Given the description of an element on the screen output the (x, y) to click on. 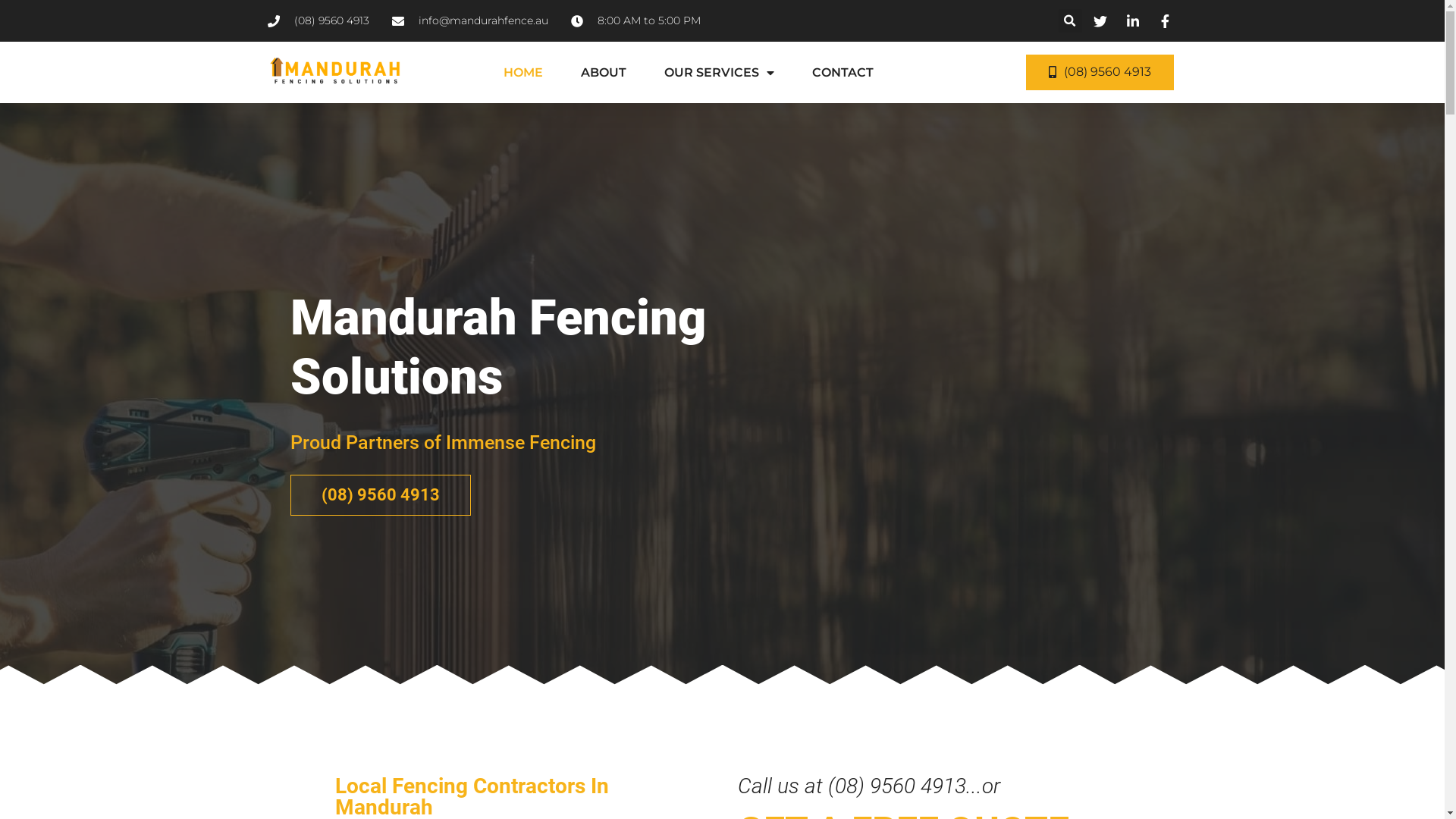
OUR SERVICES Element type: text (719, 72)
(08) 9560 4913 Element type: text (379, 494)
CONTACT Element type: text (842, 72)
ABOUT Element type: text (603, 72)
HOME Element type: text (522, 72)
(08) 9560 4913 Element type: text (317, 20)
info@mandurahfence.au Element type: text (469, 20)
(08) 9560 4913 Element type: text (1099, 72)
